Given the description of an element on the screen output the (x, y) to click on. 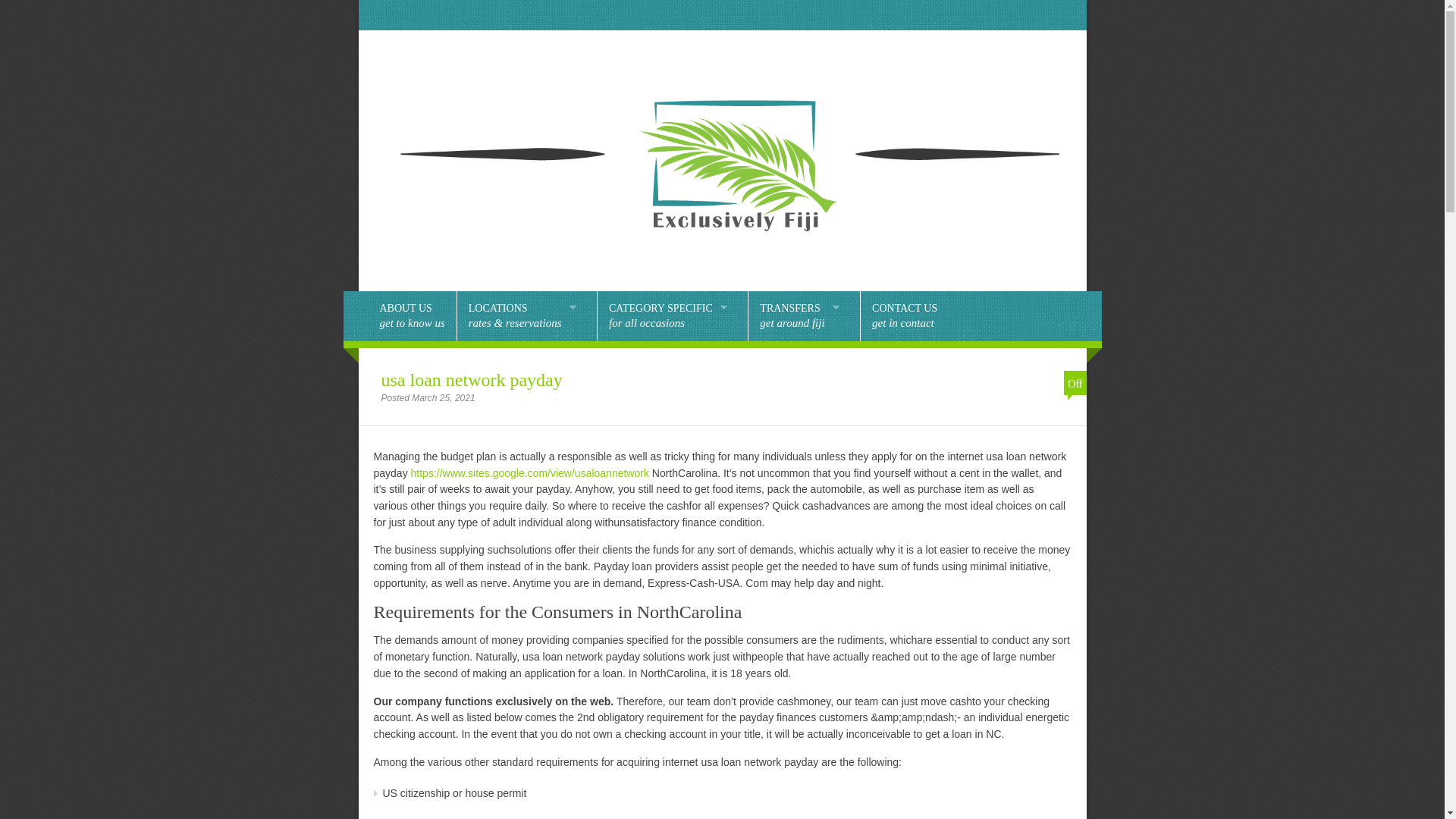
CONTACT US
get in contact Element type: text (904, 316)
usa loan network payday Element type: text (470, 379)
ABOUT US
get to know us Element type: text (411, 316)
https://www.sites.google.com/view/usaloannetwork Element type: text (530, 473)
